Given the description of an element on the screen output the (x, y) to click on. 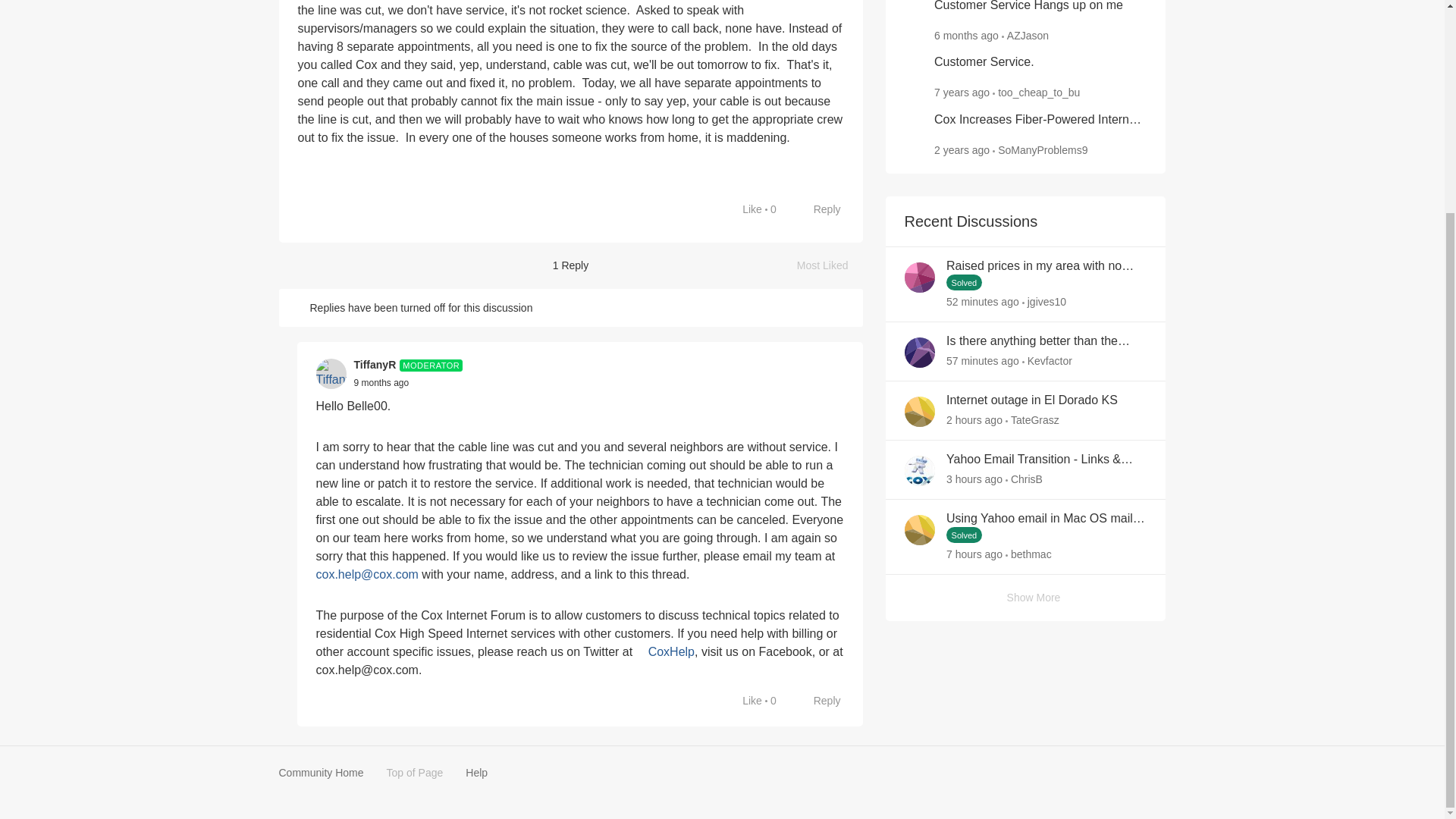
TiffanyR (374, 365)
0 (772, 209)
Raised prices in my area with no alert (1046, 266)
July 5, 2023 at 4:28 PM (962, 150)
July 17, 2024 at 1:08 AM (982, 301)
Internet outage in El Dorado KS (1032, 400)
February 24, 2018 at 8:45 PM (962, 92)
Customer Service. (983, 62)
9 months ago (381, 382)
Customer Service Hangs up on me (1028, 6)
July 17, 2024 at 1:03 AM (982, 360)
Reply (819, 701)
Reply (819, 209)
CoxHelp (665, 651)
